Given the description of an element on the screen output the (x, y) to click on. 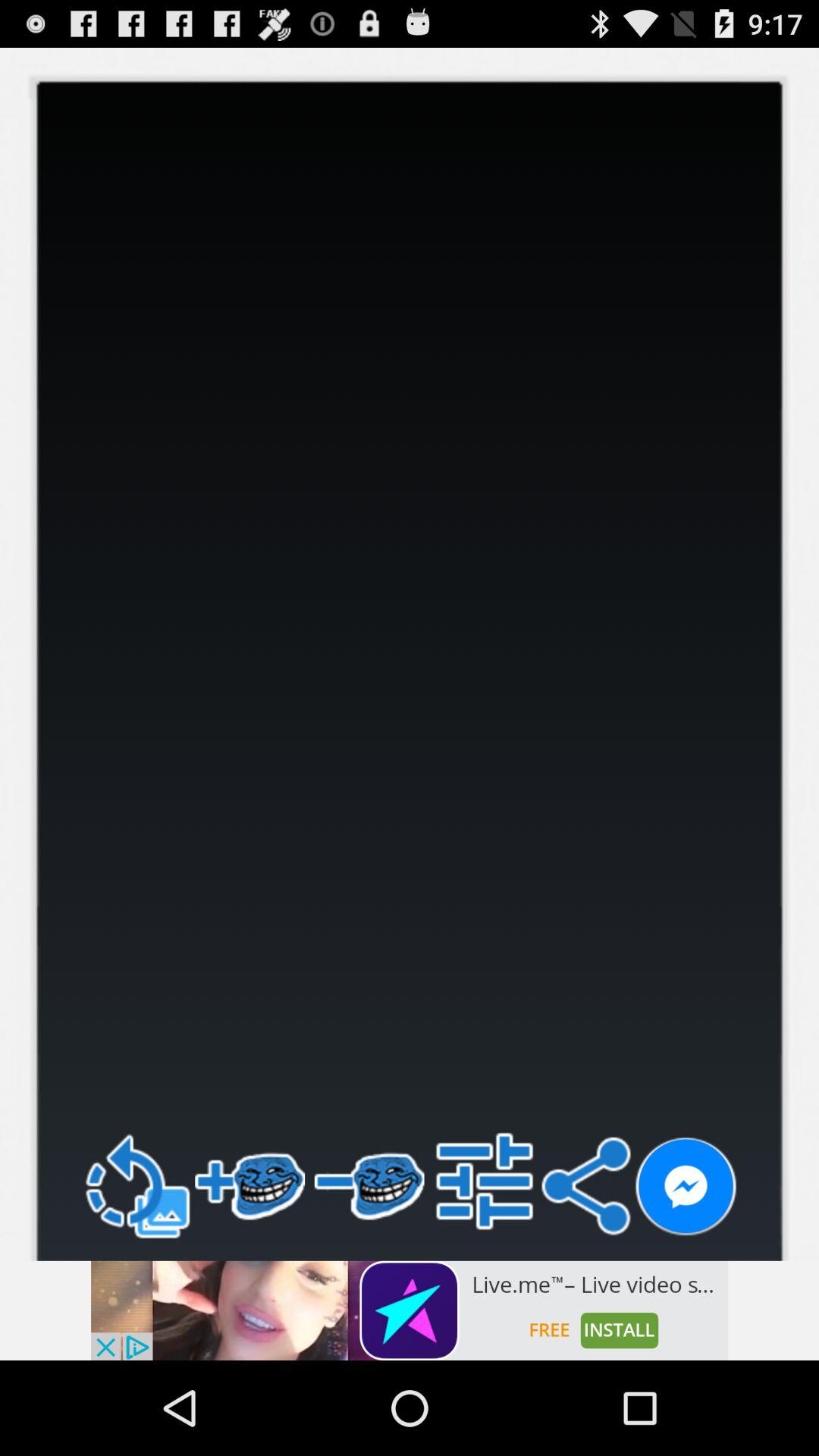
share the image (685, 1187)
